Given the description of an element on the screen output the (x, y) to click on. 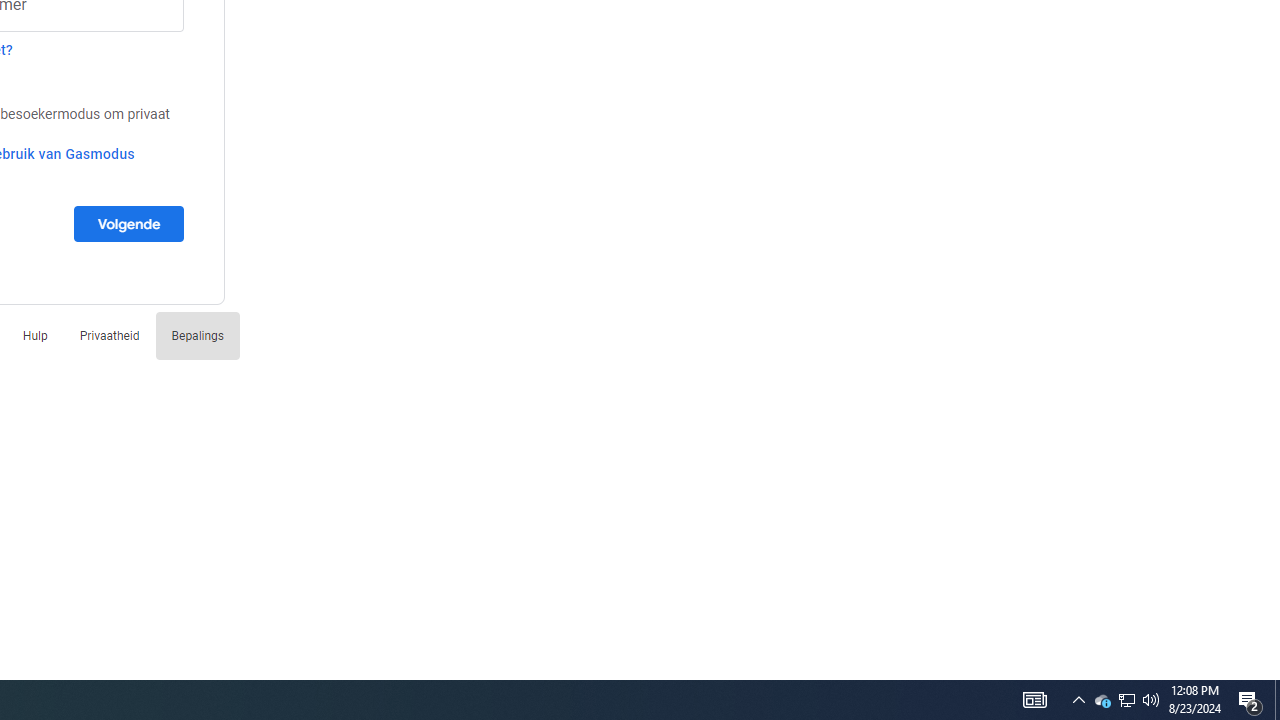
Bepalings (197, 335)
Volgende (128, 223)
Privaatheid (109, 335)
Hulp (35, 335)
